Given the description of an element on the screen output the (x, y) to click on. 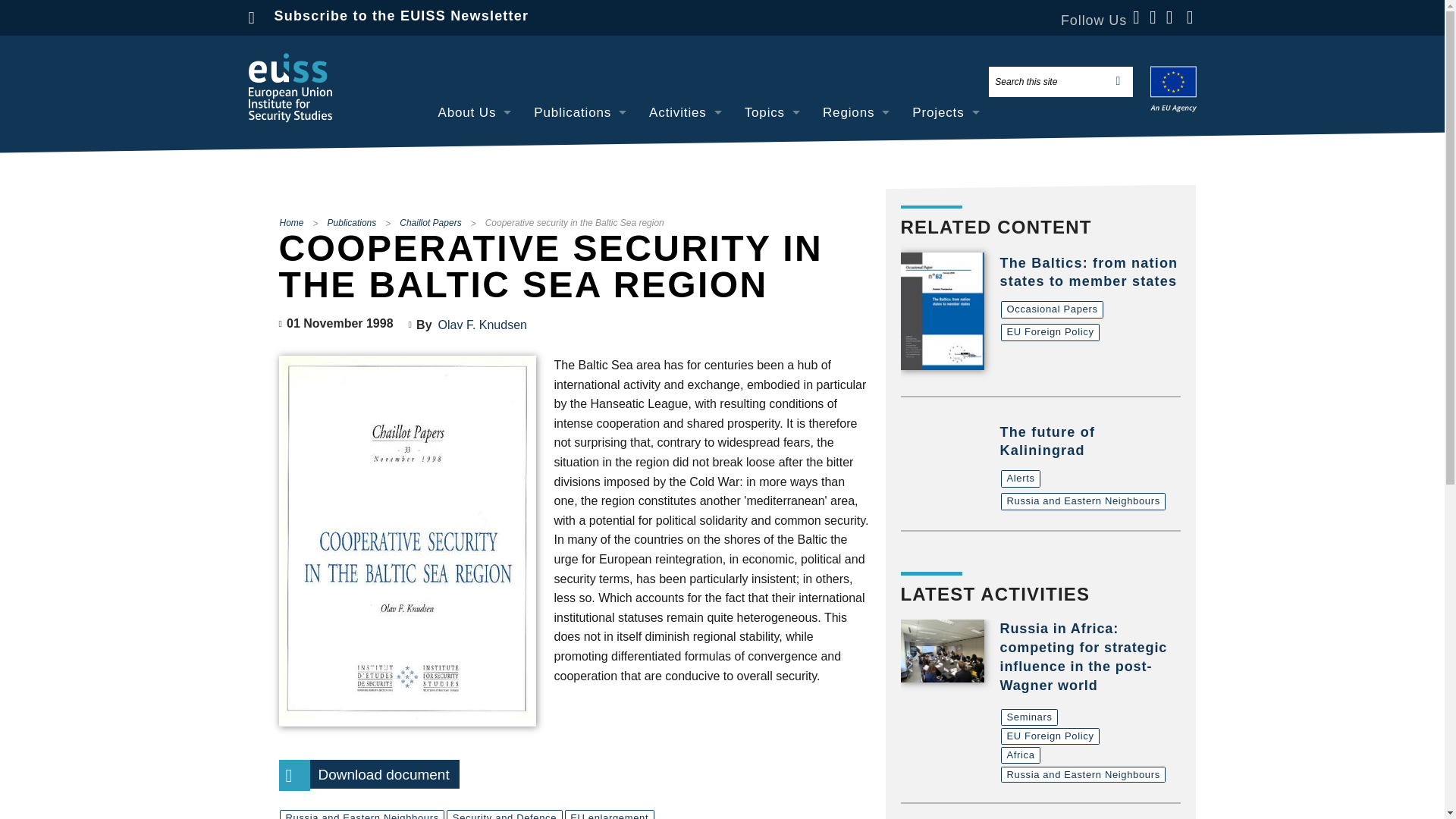
About Us (474, 112)
cp033e.pdf (369, 774)
Task Forces (685, 214)
Subscribe to the EUISS Newsletter (402, 15)
Activities (685, 112)
EU foreign policy (771, 146)
EUROPEAN UNION INSTITUTE FOR SECURITY STUDIES (289, 87)
Topics (771, 112)
Commentaries (579, 180)
Opportunities (474, 283)
Security and defence (771, 214)
Reports (579, 283)
Books (579, 248)
Conferences (685, 146)
